Given the description of an element on the screen output the (x, y) to click on. 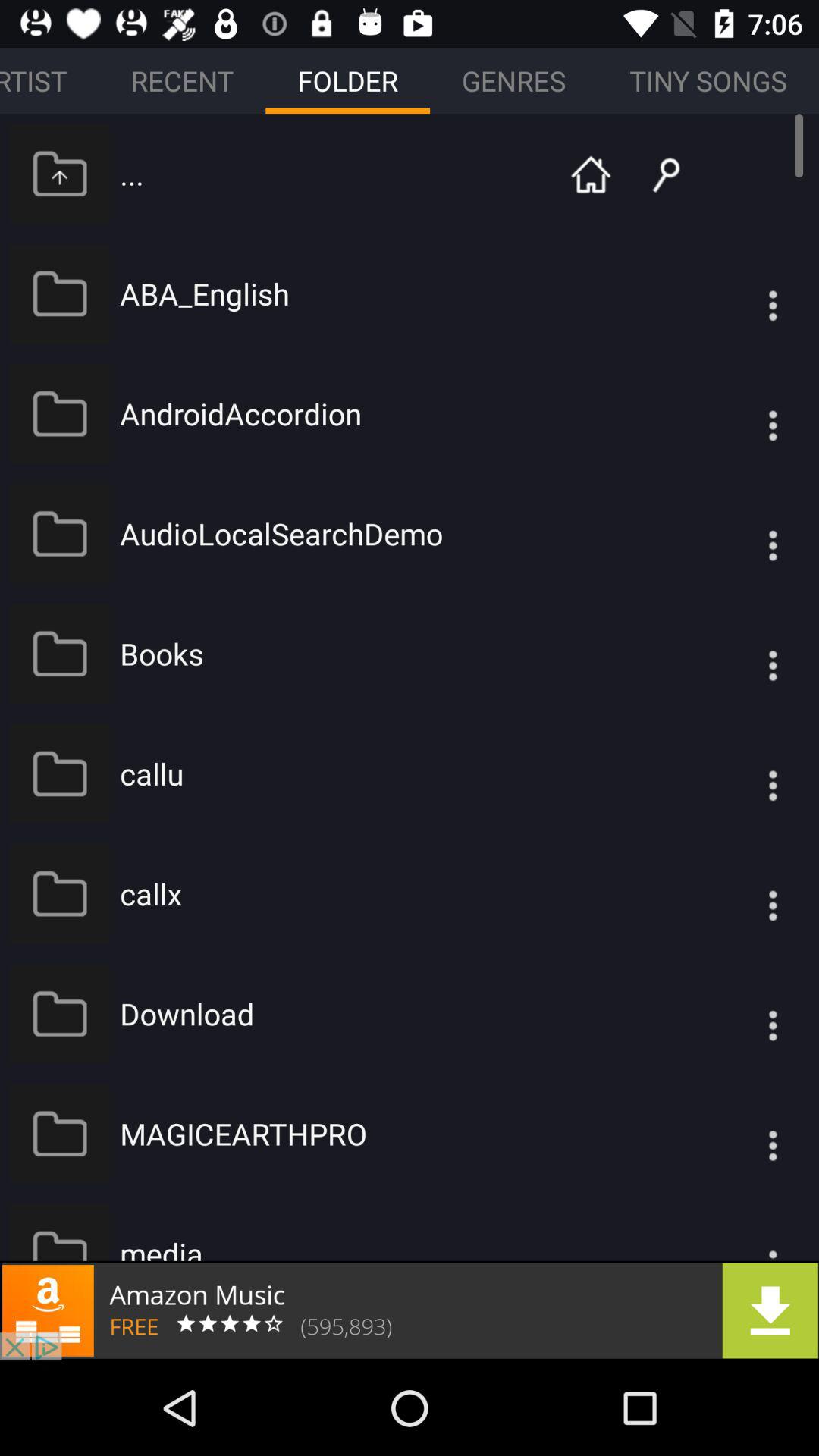
search (654, 173)
